Given the description of an element on the screen output the (x, y) to click on. 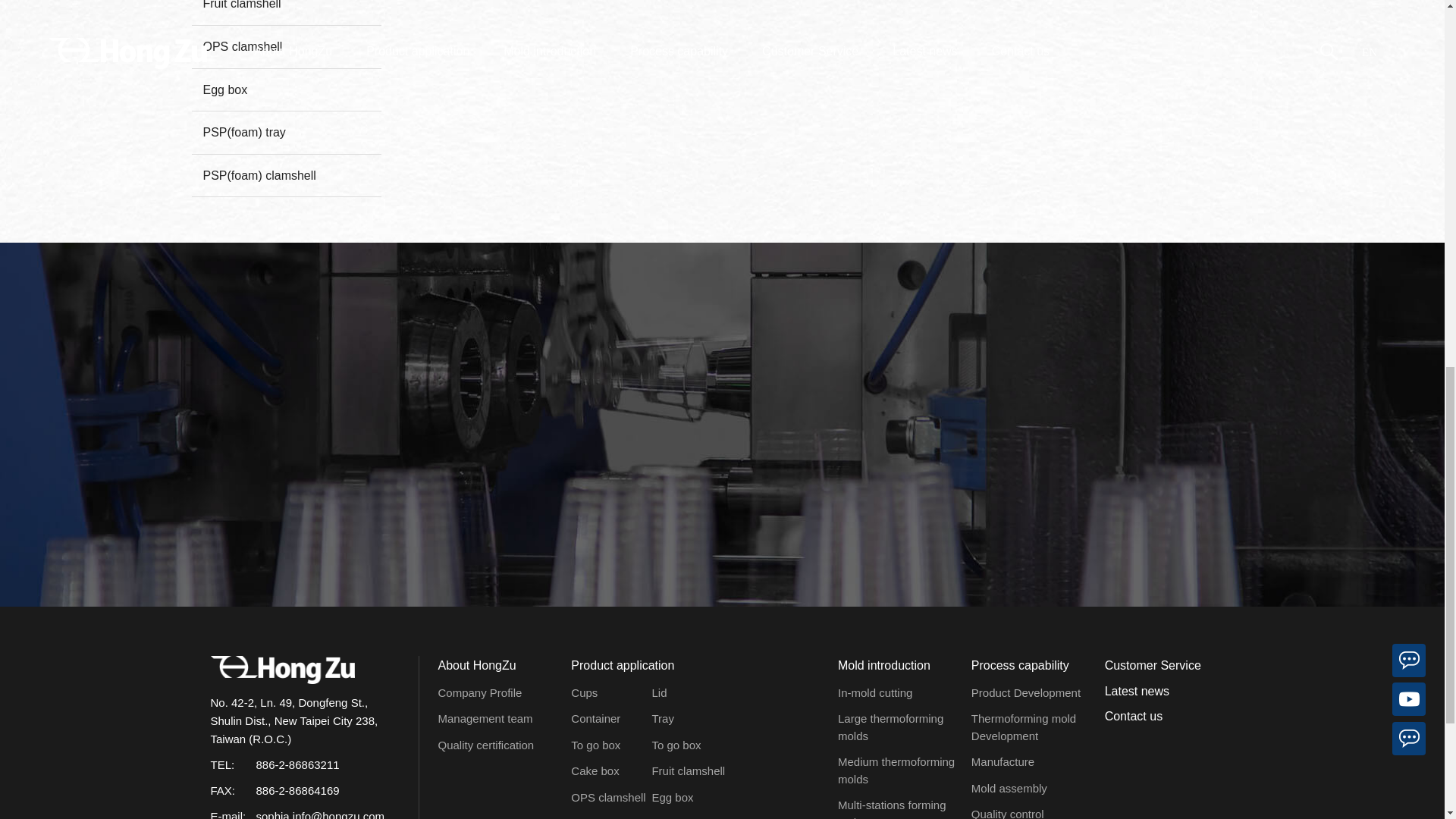
Fruit clamshell (285, 12)
Egg box (285, 89)
OPS clamshell (285, 46)
